Given the description of an element on the screen output the (x, y) to click on. 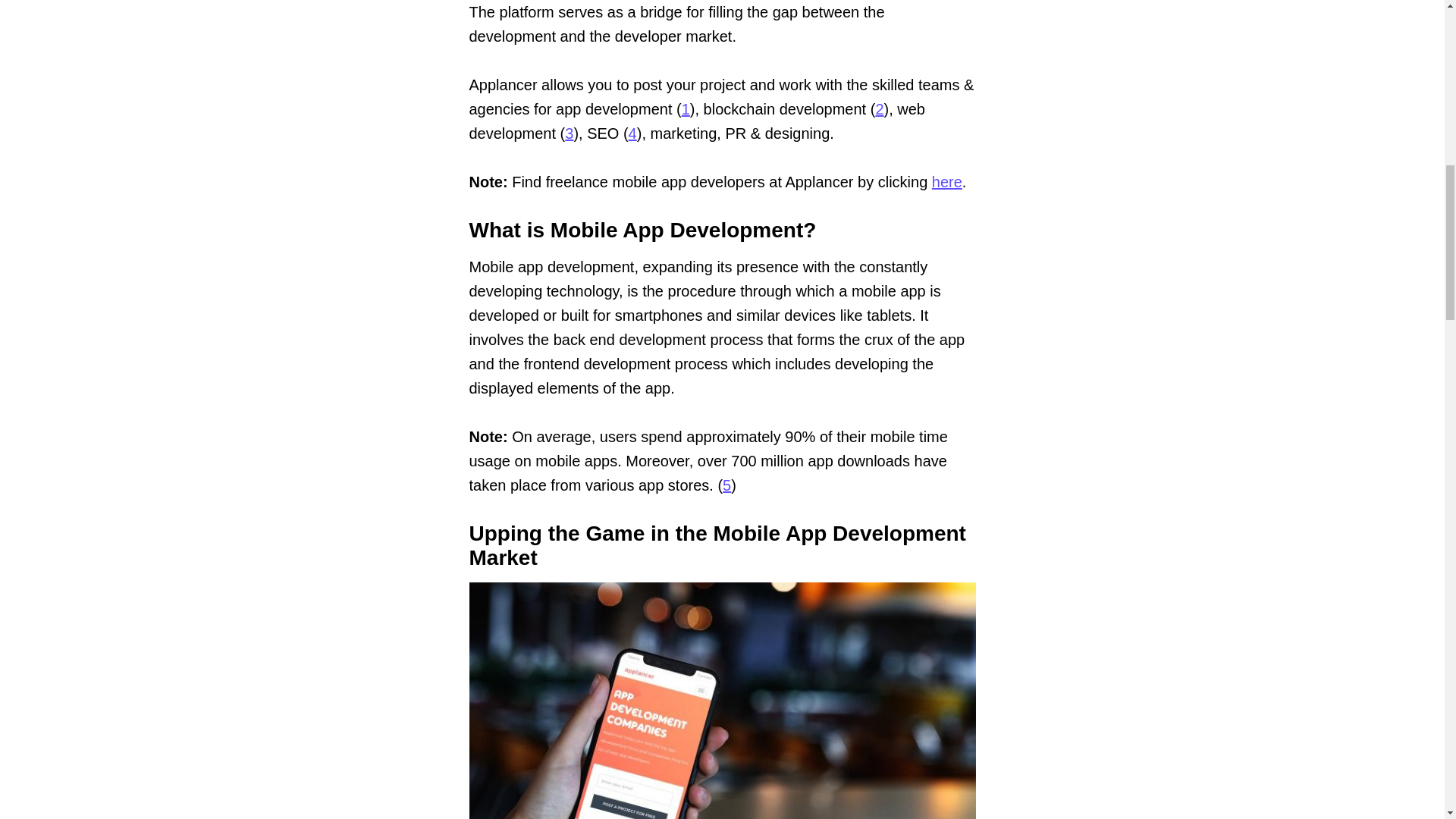
4 (632, 133)
1 (685, 108)
3 (568, 133)
2 (879, 108)
here (946, 181)
5 (726, 484)
